Given the description of an element on the screen output the (x, y) to click on. 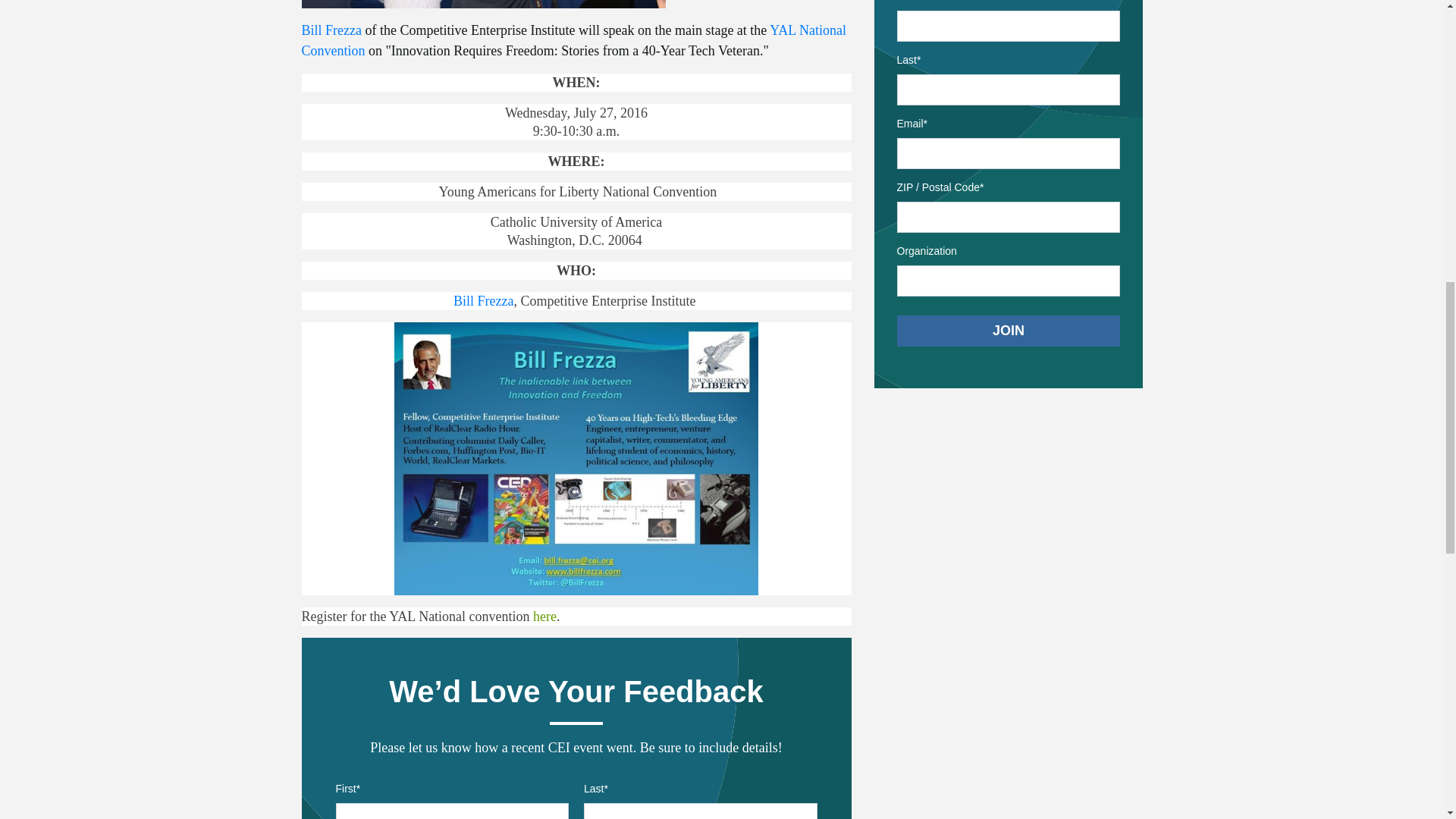
Join (1007, 330)
